Given the description of an element on the screen output the (x, y) to click on. 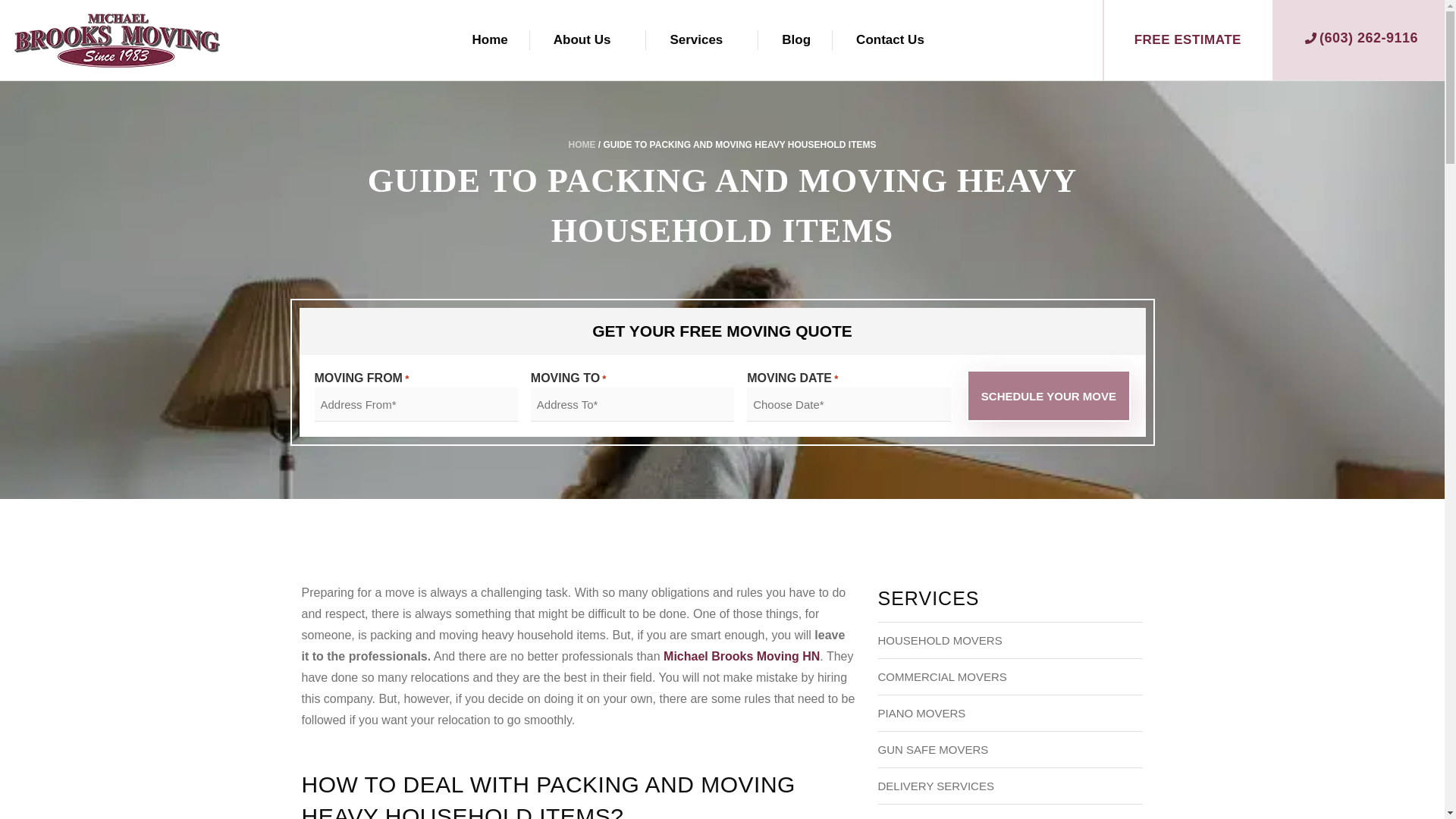
HOME (581, 144)
Contact Us (890, 39)
About Us (582, 39)
FREE ESTIMATE (1187, 40)
Services (695, 39)
Schedule Your Move (1047, 395)
